Given the description of an element on the screen output the (x, y) to click on. 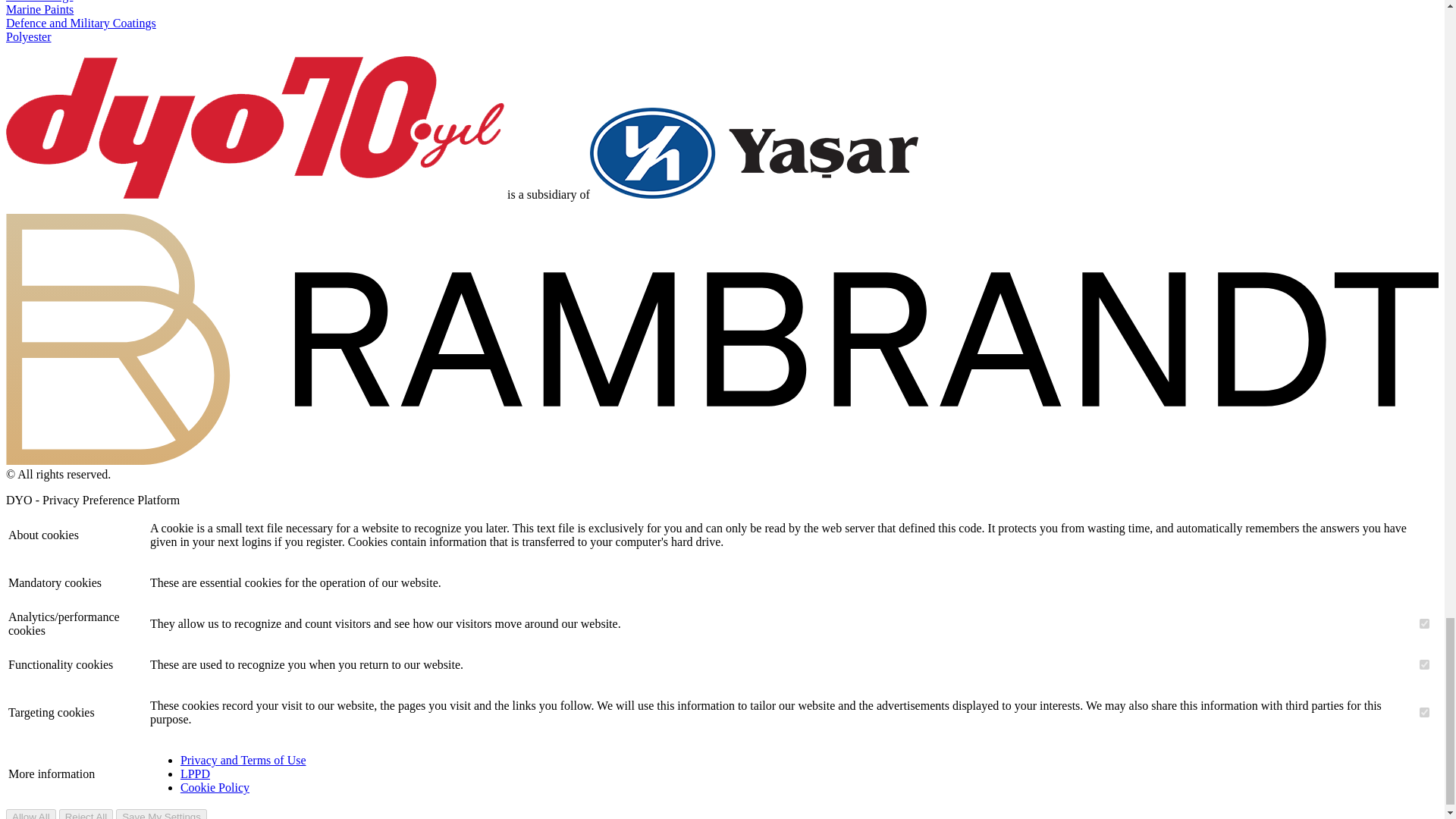
on (1424, 664)
on (1424, 712)
on (1424, 623)
